Given the description of an element on the screen output the (x, y) to click on. 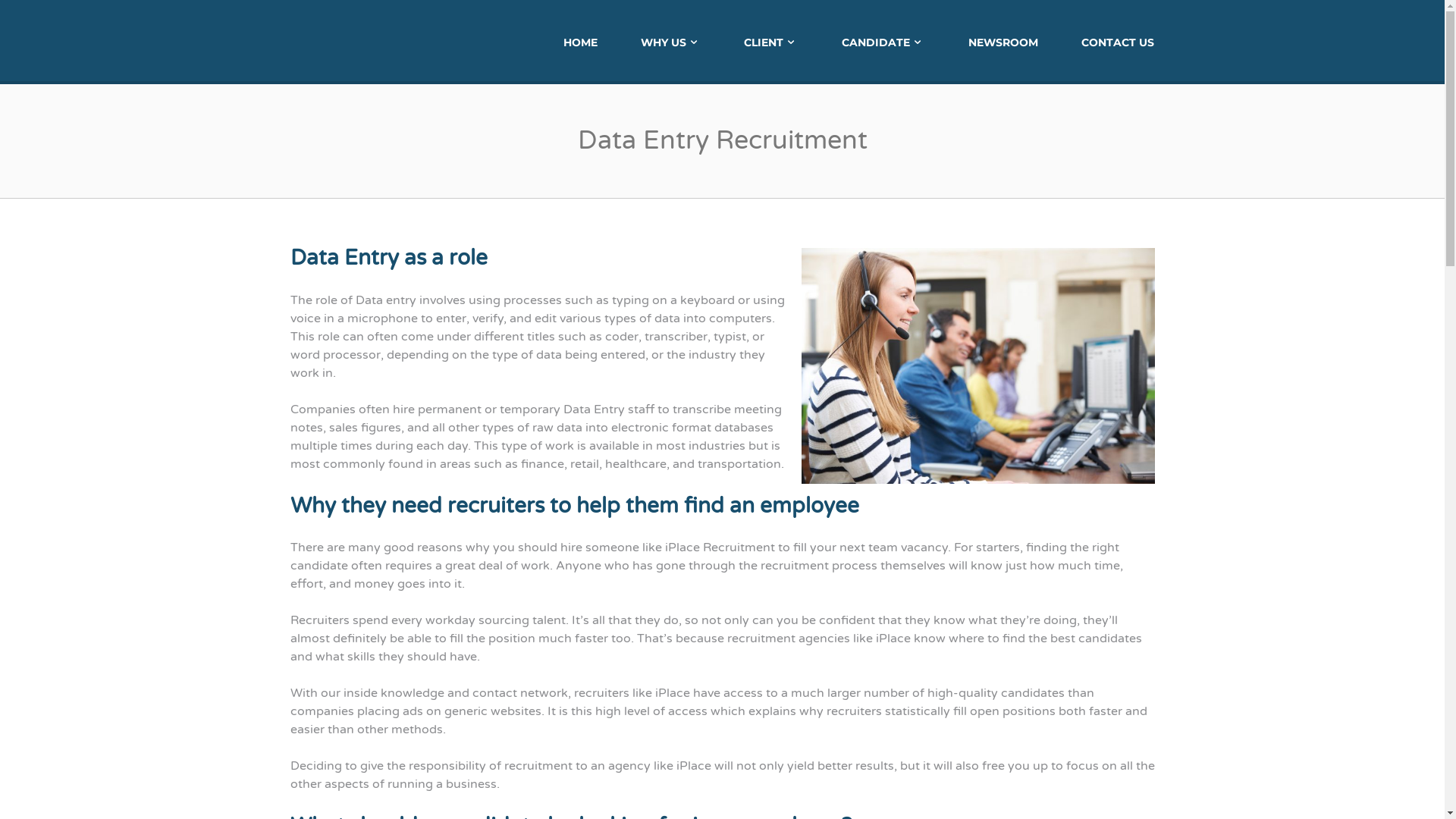
WHY US Element type: text (670, 41)
NEWSROOM Element type: text (1002, 41)
CLIENT Element type: text (770, 41)
CONTACT US Element type: text (1117, 41)
CANDIDATE Element type: text (883, 41)
IPLACE RECRUITMENT Element type: text (286, 41)
HOME Element type: text (580, 41)
